Given the description of an element on the screen output the (x, y) to click on. 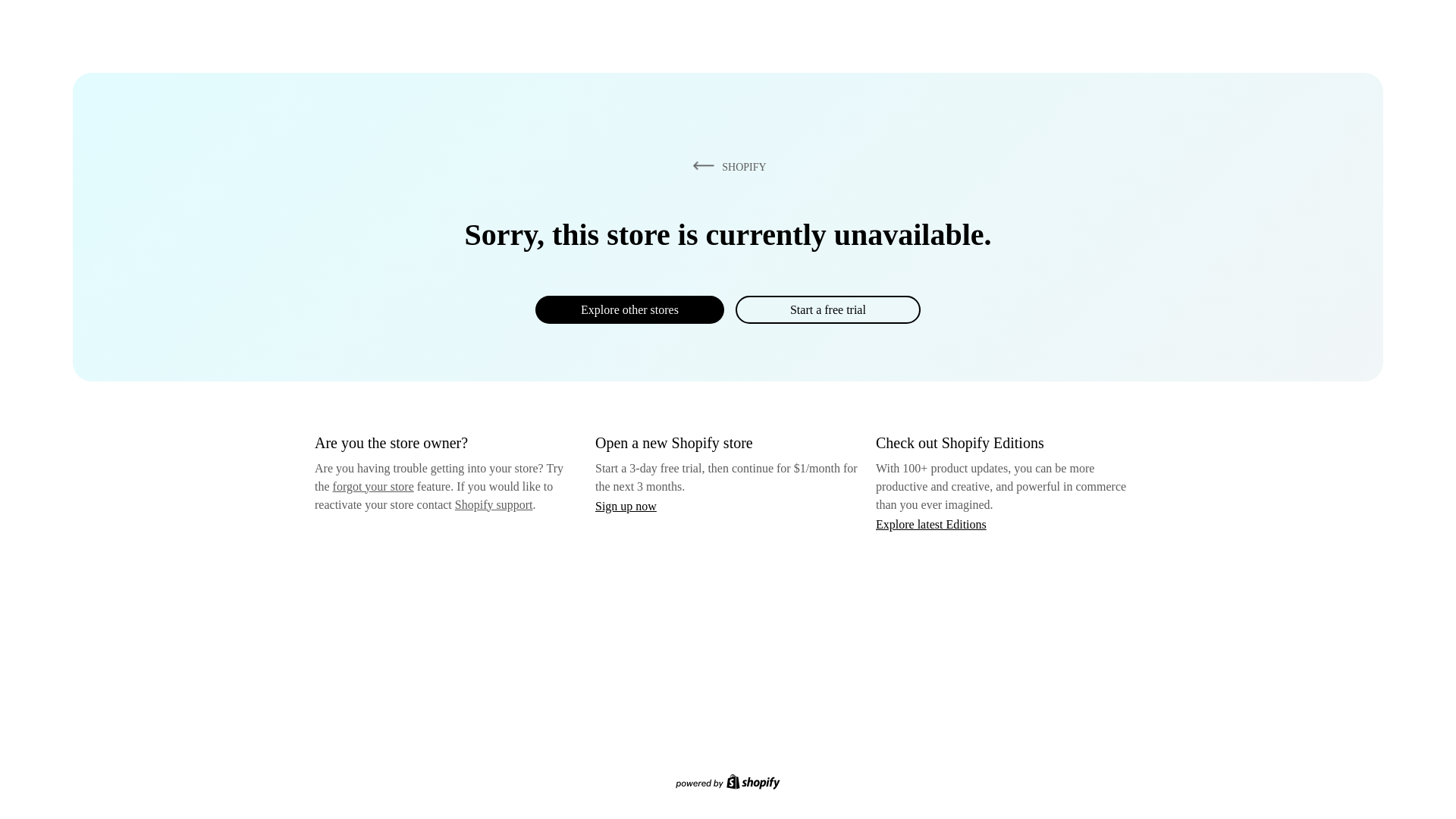
Explore other stores (629, 309)
Sign up now (625, 505)
SHOPIFY (726, 166)
Shopify support (493, 504)
forgot your store (373, 486)
Explore latest Editions (931, 523)
Start a free trial (827, 309)
